Given the description of an element on the screen output the (x, y) to click on. 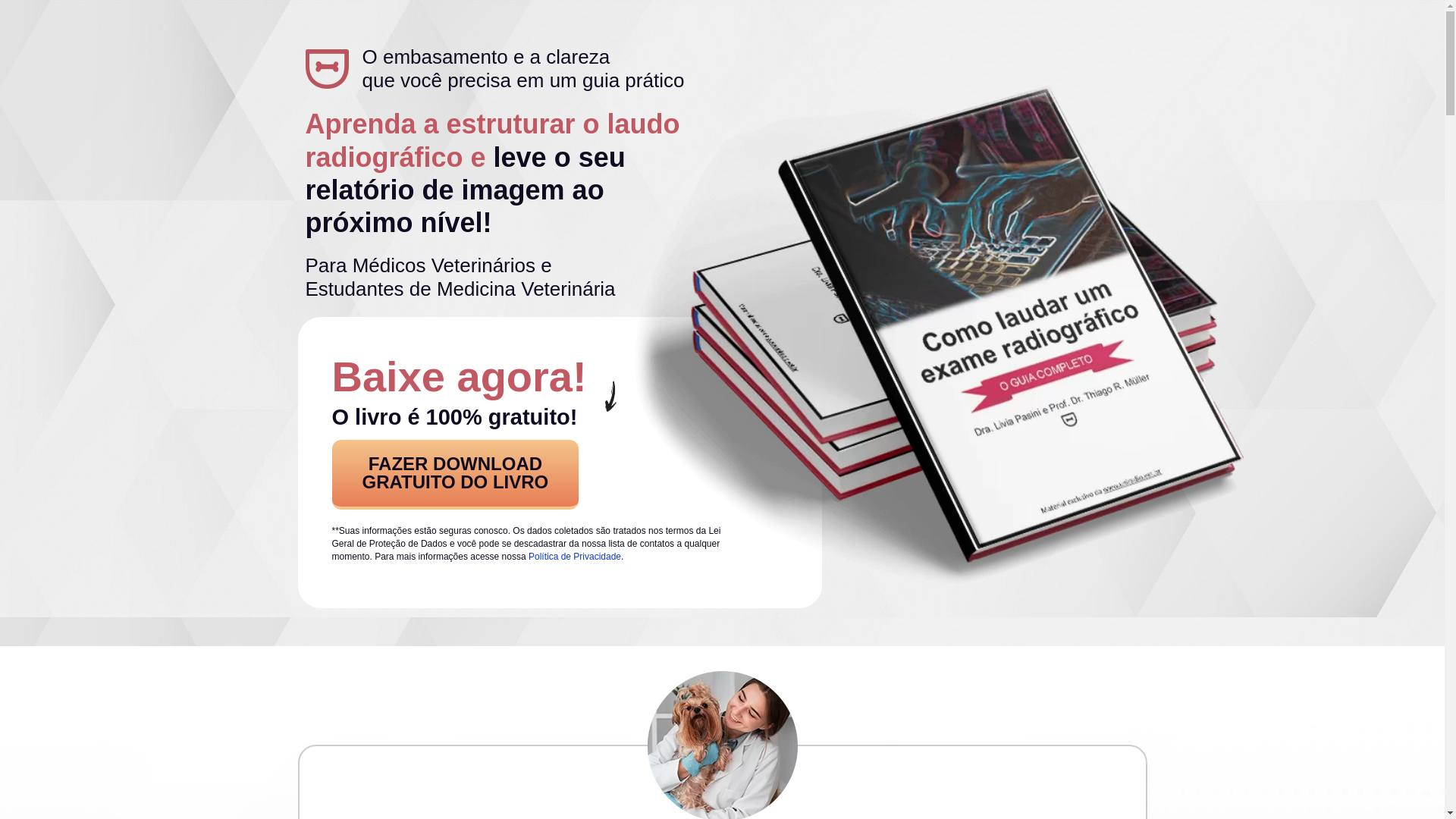
FAZER DOWNLOAD
GRATUITO DO LIVRO Element type: text (455, 474)
